Given the description of an element on the screen output the (x, y) to click on. 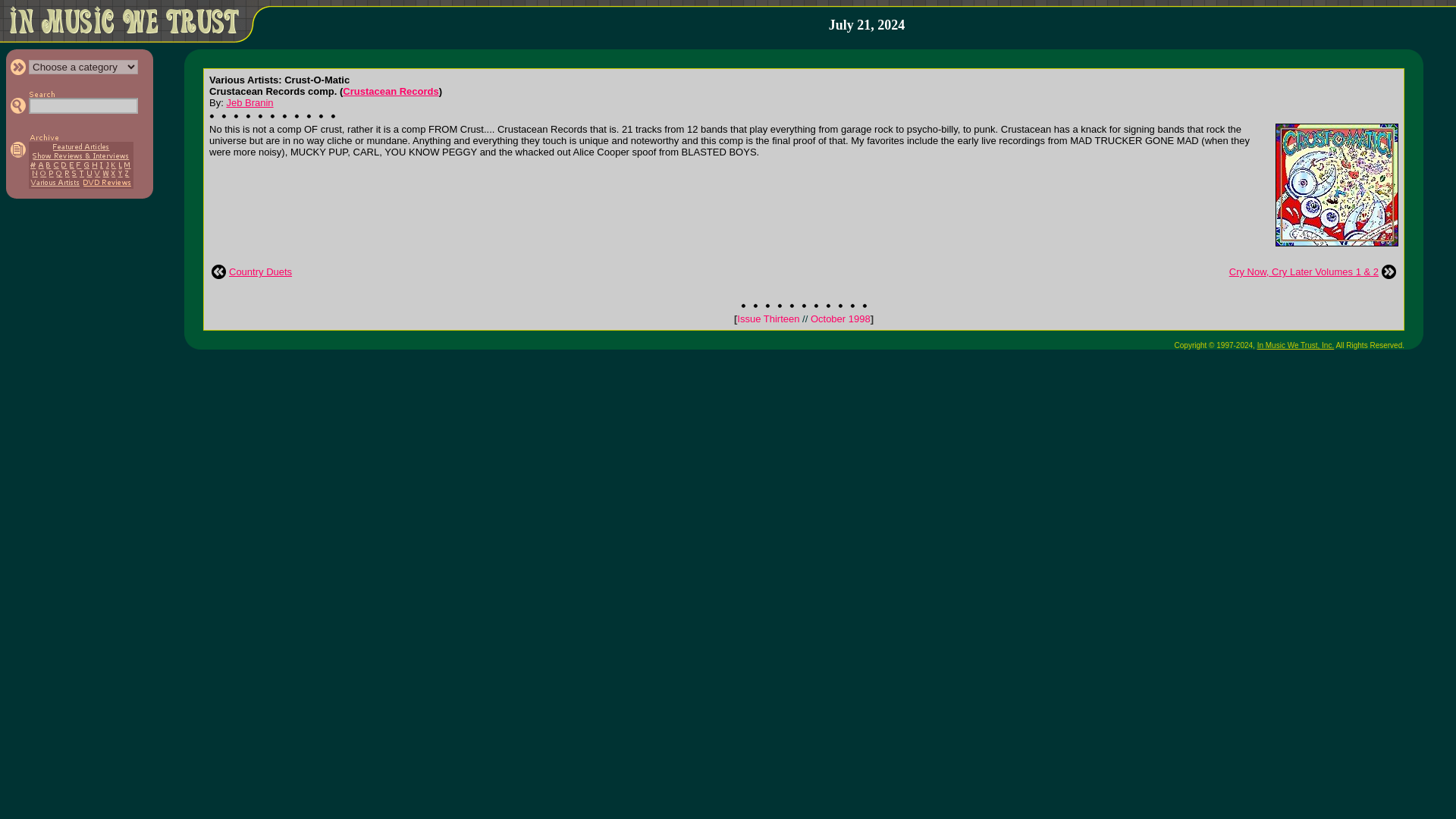
Crustacean Records (390, 91)
Jeb Branin (249, 102)
July 21, 2024 (866, 24)
Country Duets (260, 271)
In Music We Trust, Inc. (1296, 345)
